Given the description of an element on the screen output the (x, y) to click on. 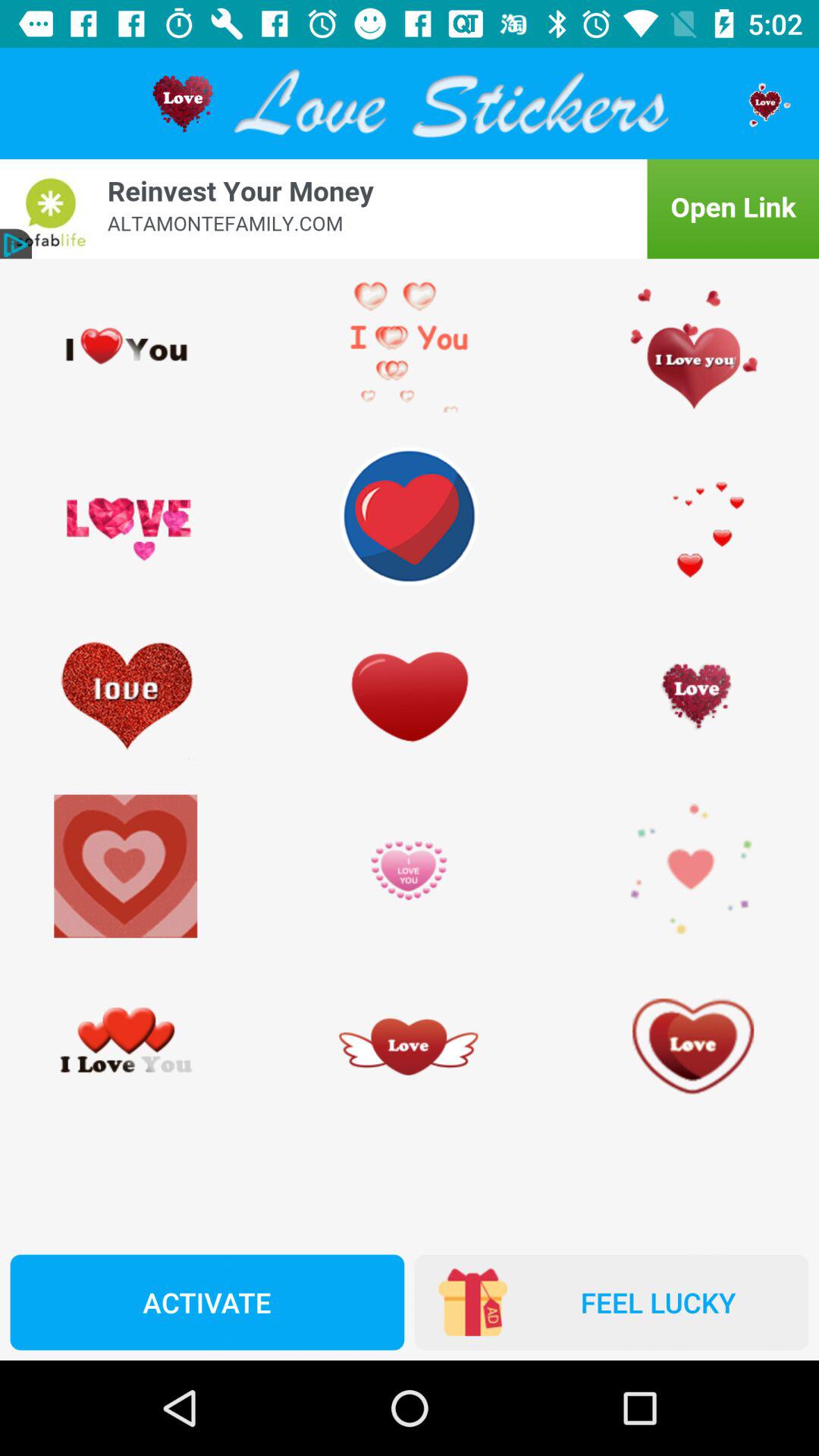
turn off icon next to activate item (611, 1302)
